Given the description of an element on the screen output the (x, y) to click on. 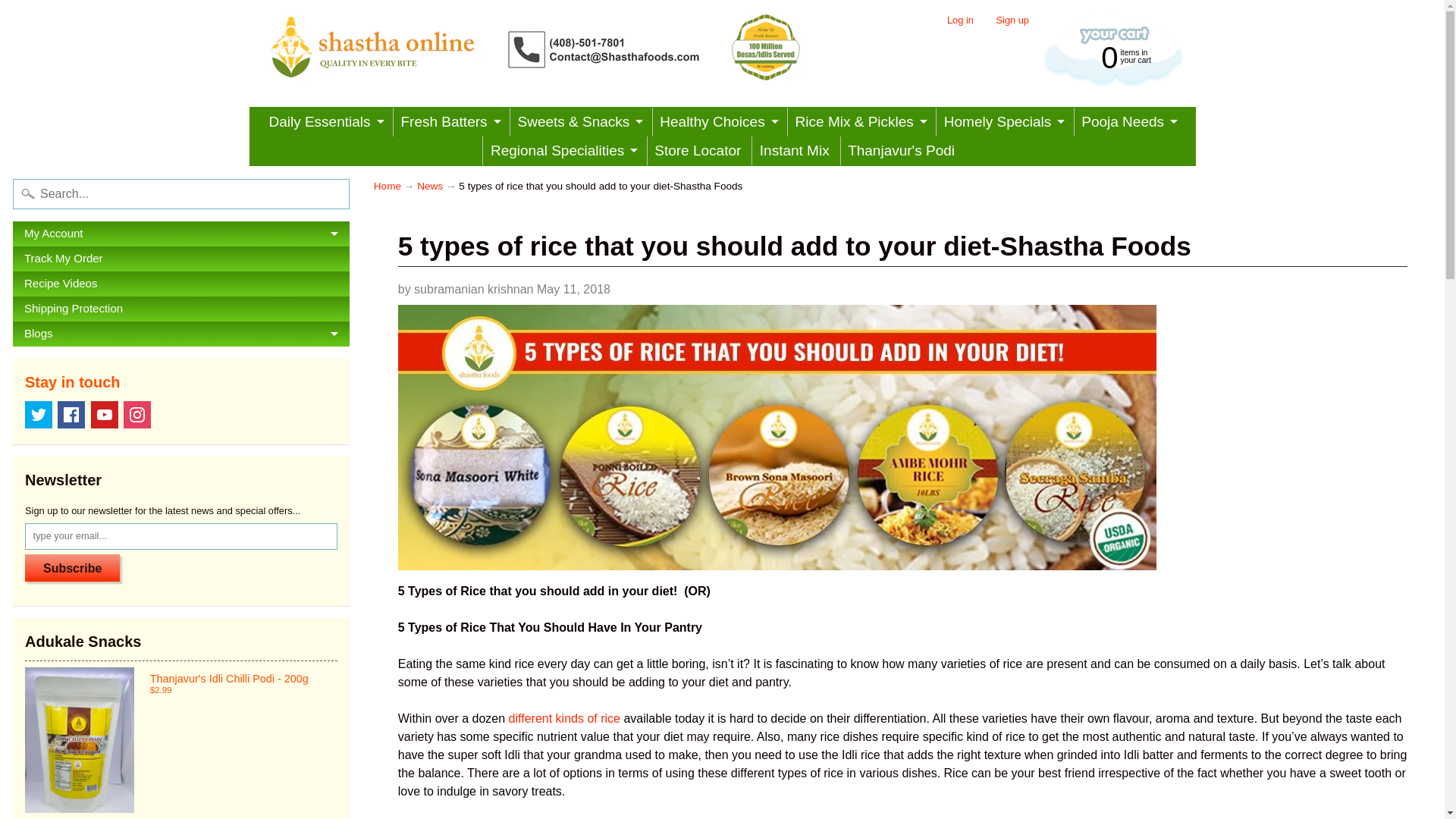
Daily Essentials (326, 121)
Facebook (71, 414)
Fresh Batters (1112, 56)
Thanjavur's  Idli  Chilli Podi - 200g (449, 121)
Sign up (180, 739)
Healthy Choices (1012, 20)
Twitter (718, 121)
Youtube (38, 414)
Instagram (103, 414)
Back to the home page (137, 414)
shasthaonline.com (387, 185)
Log in (560, 47)
